Given the description of an element on the screen output the (x, y) to click on. 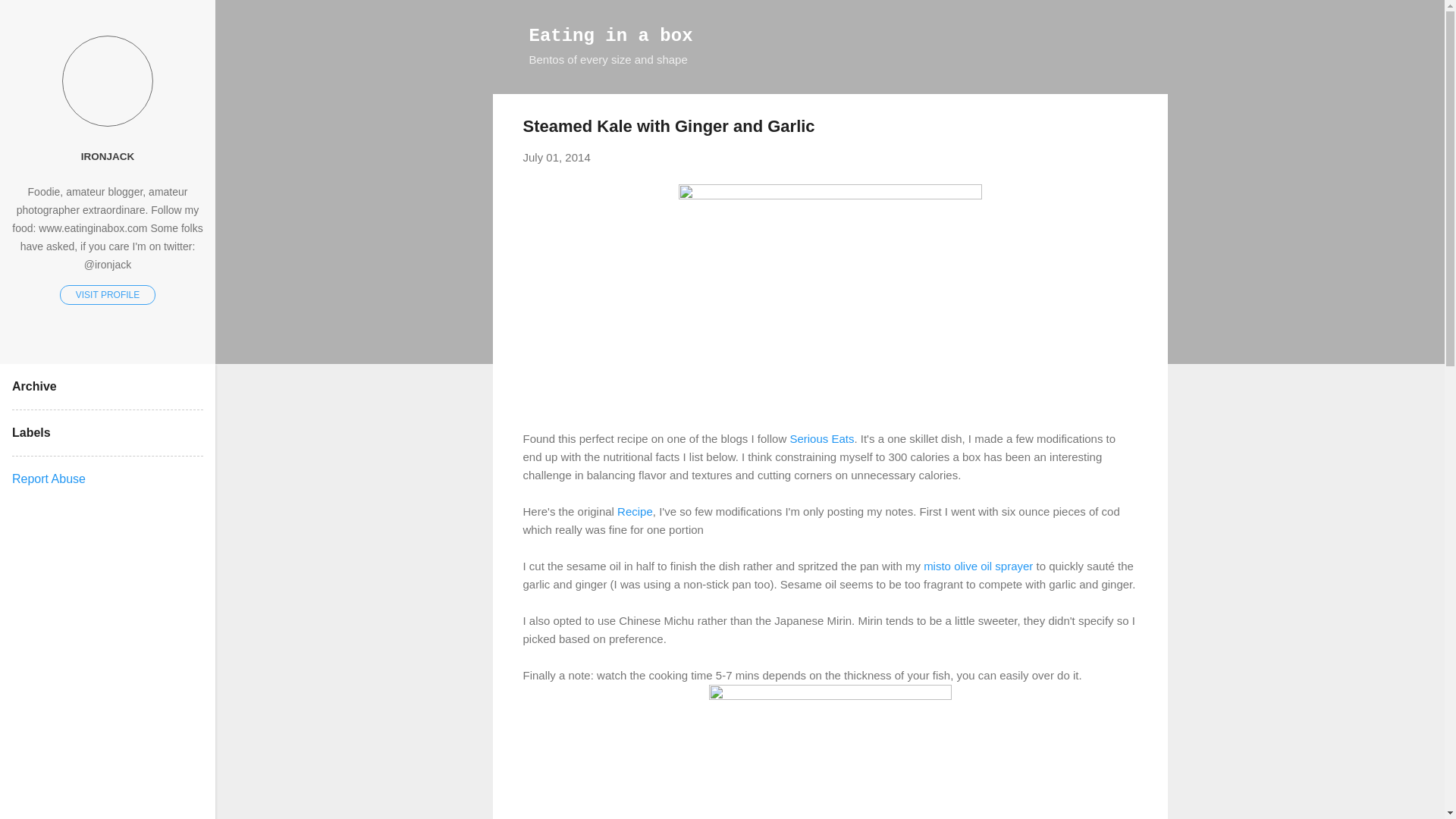
Eating in a box (611, 35)
July 01, 2014 (556, 156)
Search (29, 18)
misto olive oil sprayer (977, 565)
permanent link (556, 156)
Recipe (634, 511)
Serious Eats (821, 438)
